Given the description of an element on the screen output the (x, y) to click on. 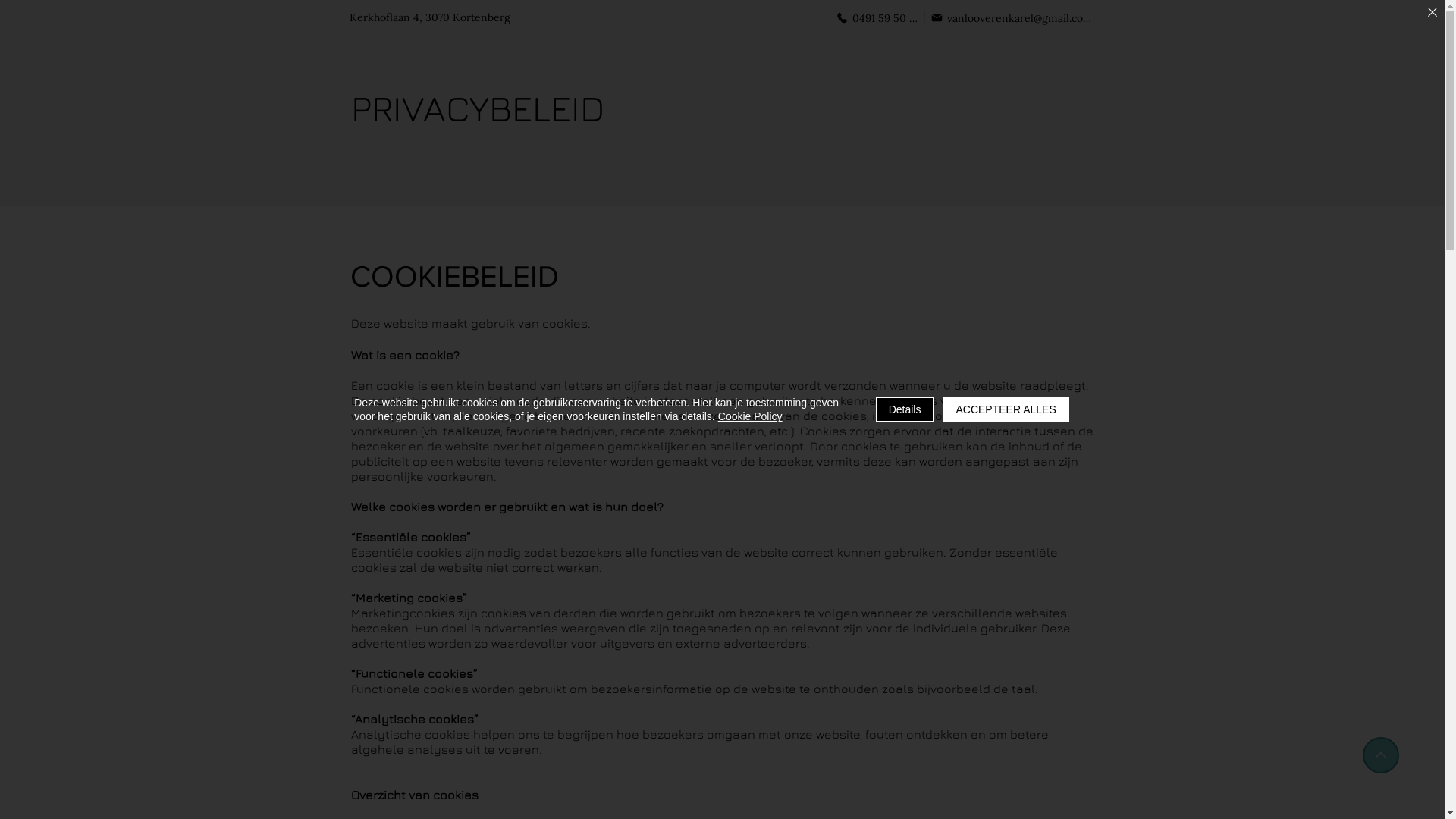
Cookie Policy Element type: text (750, 416)
Details Element type: text (904, 409)
vanlooverenkarel@gmail.com Element type: text (1010, 17)
0491 59 50 97 Element type: text (876, 17)
ACCEPTEER ALLES Element type: text (1005, 409)
